Given the description of an element on the screen output the (x, y) to click on. 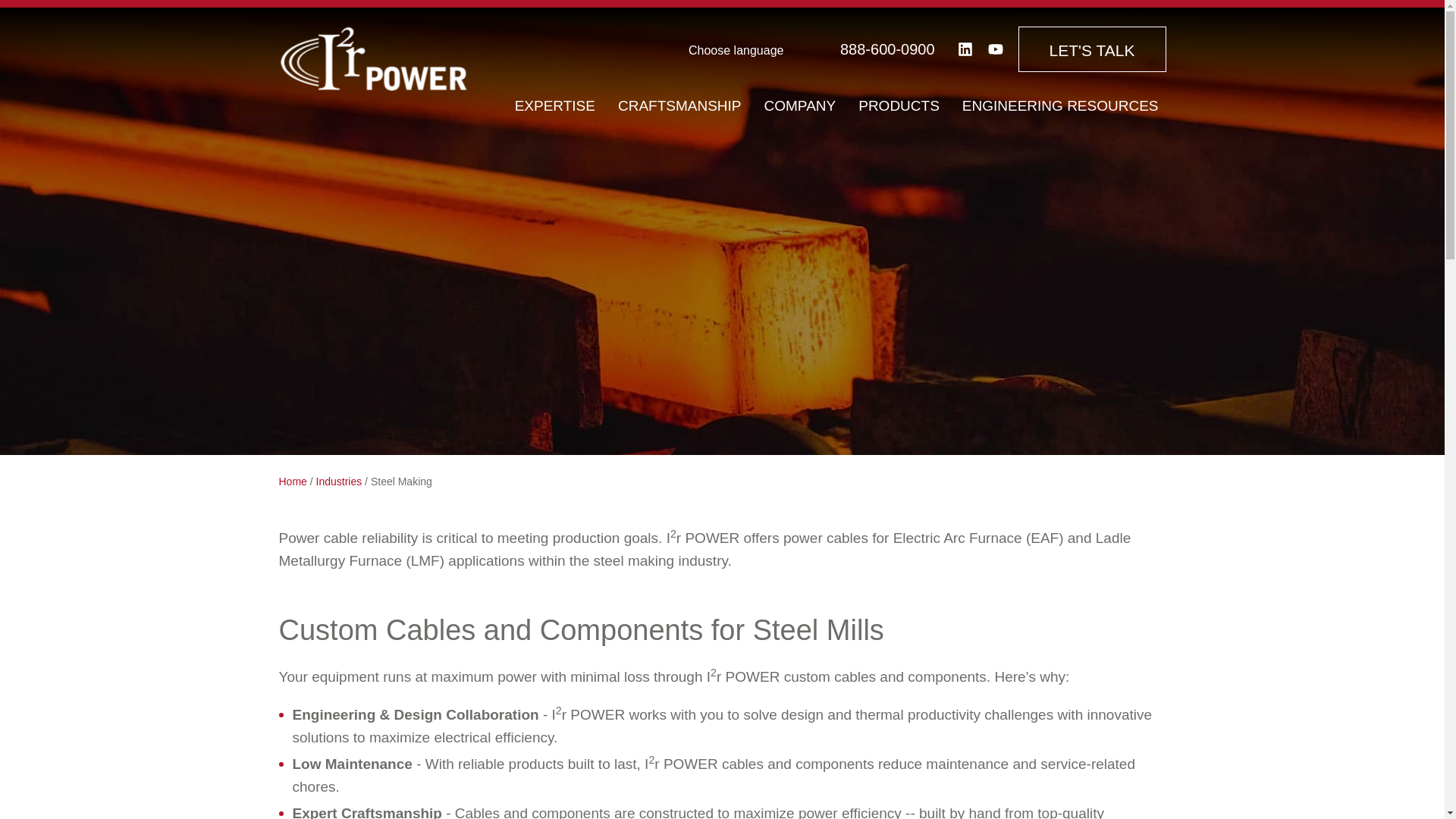
CRAFTSMANSHIP (679, 105)
888-600-0900 (887, 48)
LET'S TALK (1091, 49)
COMPANY (800, 105)
I2r POWER (373, 58)
EXPERTISE (554, 105)
